Given the description of an element on the screen output the (x, y) to click on. 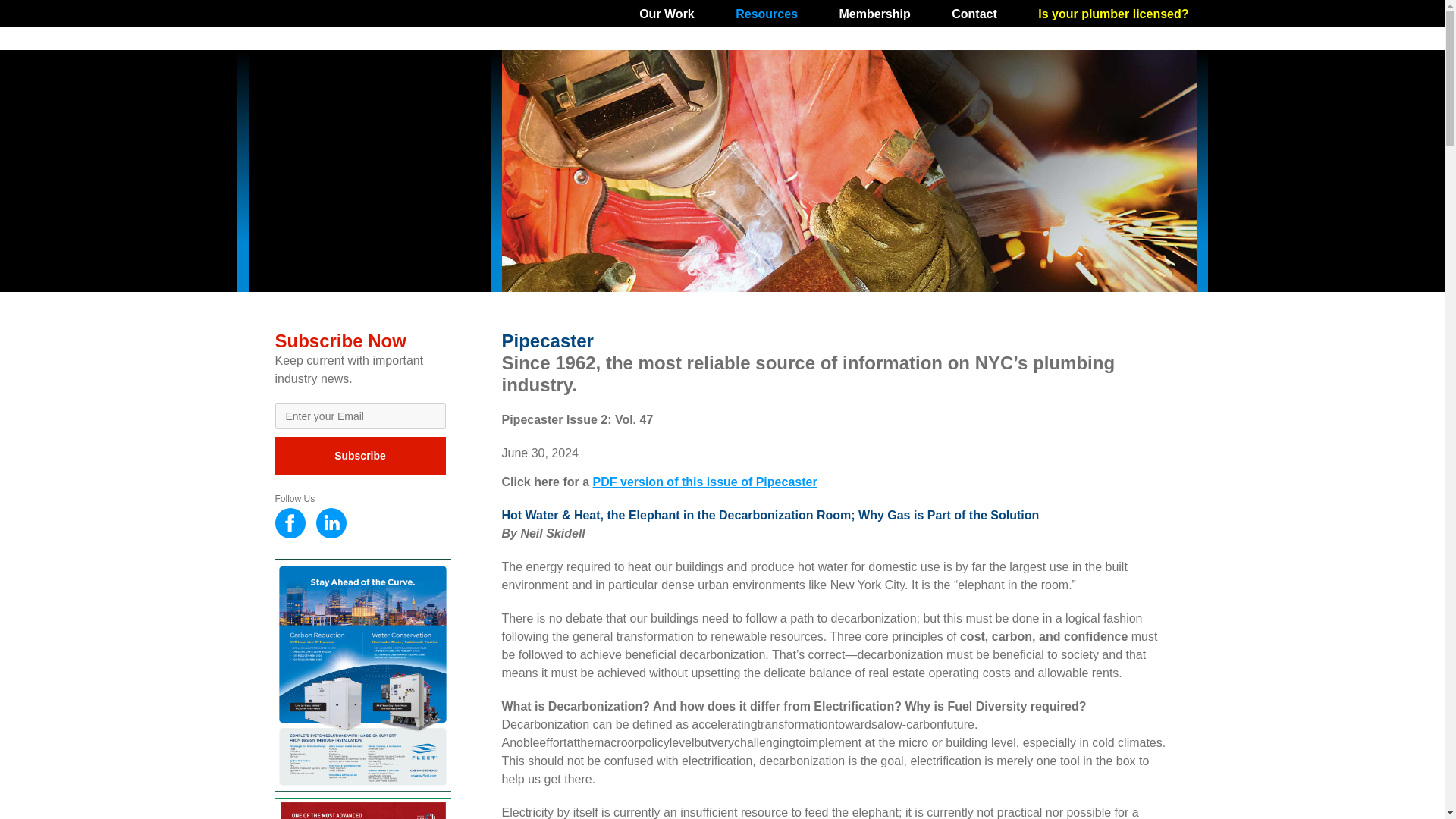
Resources (766, 13)
Subscribe (360, 455)
PDF version of this issue of Pipecaster (704, 481)
Plumbing Foundation (369, 170)
Contact (974, 13)
Membership (875, 13)
Pipecaster (548, 340)
Is your plumber licensed? (1113, 13)
Our Work (666, 13)
